Given the description of an element on the screen output the (x, y) to click on. 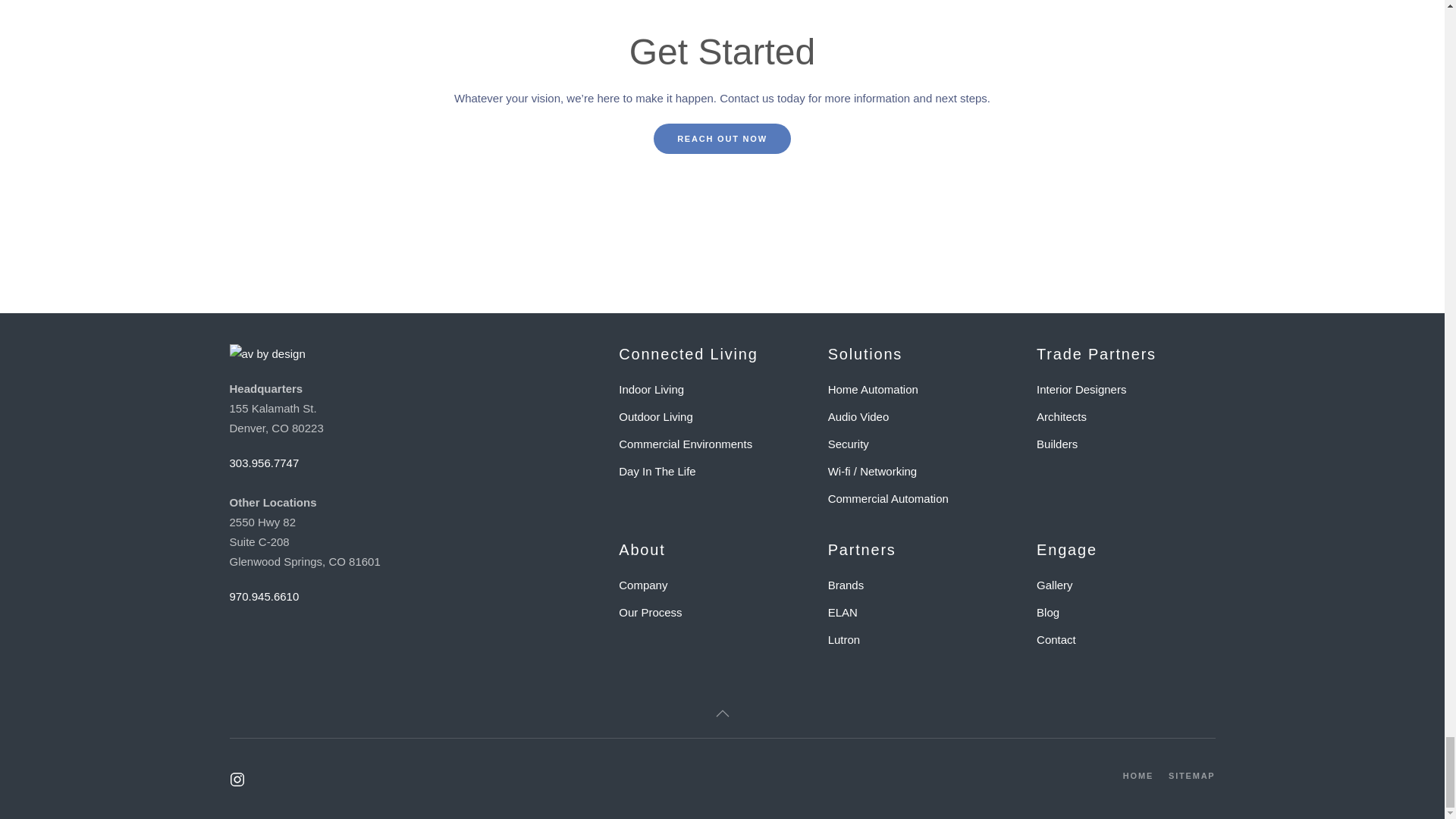
Back to Top (721, 713)
